Given the description of an element on the screen output the (x, y) to click on. 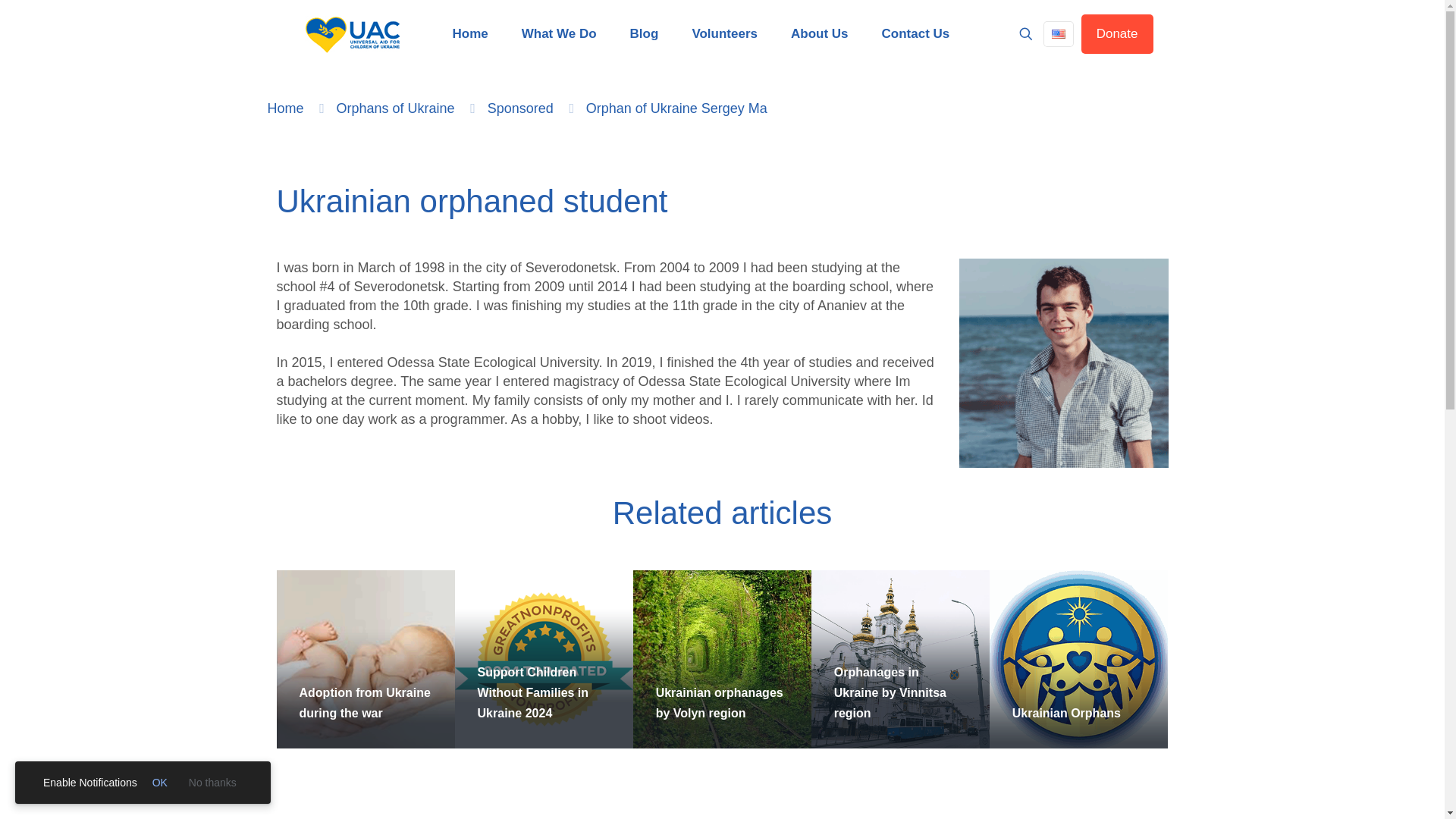
Sponsored (520, 108)
Donate (1117, 34)
Ukrainian Orphans (1066, 712)
Ukrainian orphanages by Volyn region (719, 702)
Volunteers (725, 34)
What We Do (558, 34)
Support Children Without Families in Ukraine 2024 (533, 692)
Donate (1117, 34)
Home (469, 34)
Home (284, 108)
Adoption from Ukraine during the war (363, 702)
About Us (819, 34)
Blog (644, 34)
Orphanages in Ukraine by Vinnitsa region (890, 692)
Orphans of Ukraine (395, 108)
